Given the description of an element on the screen output the (x, y) to click on. 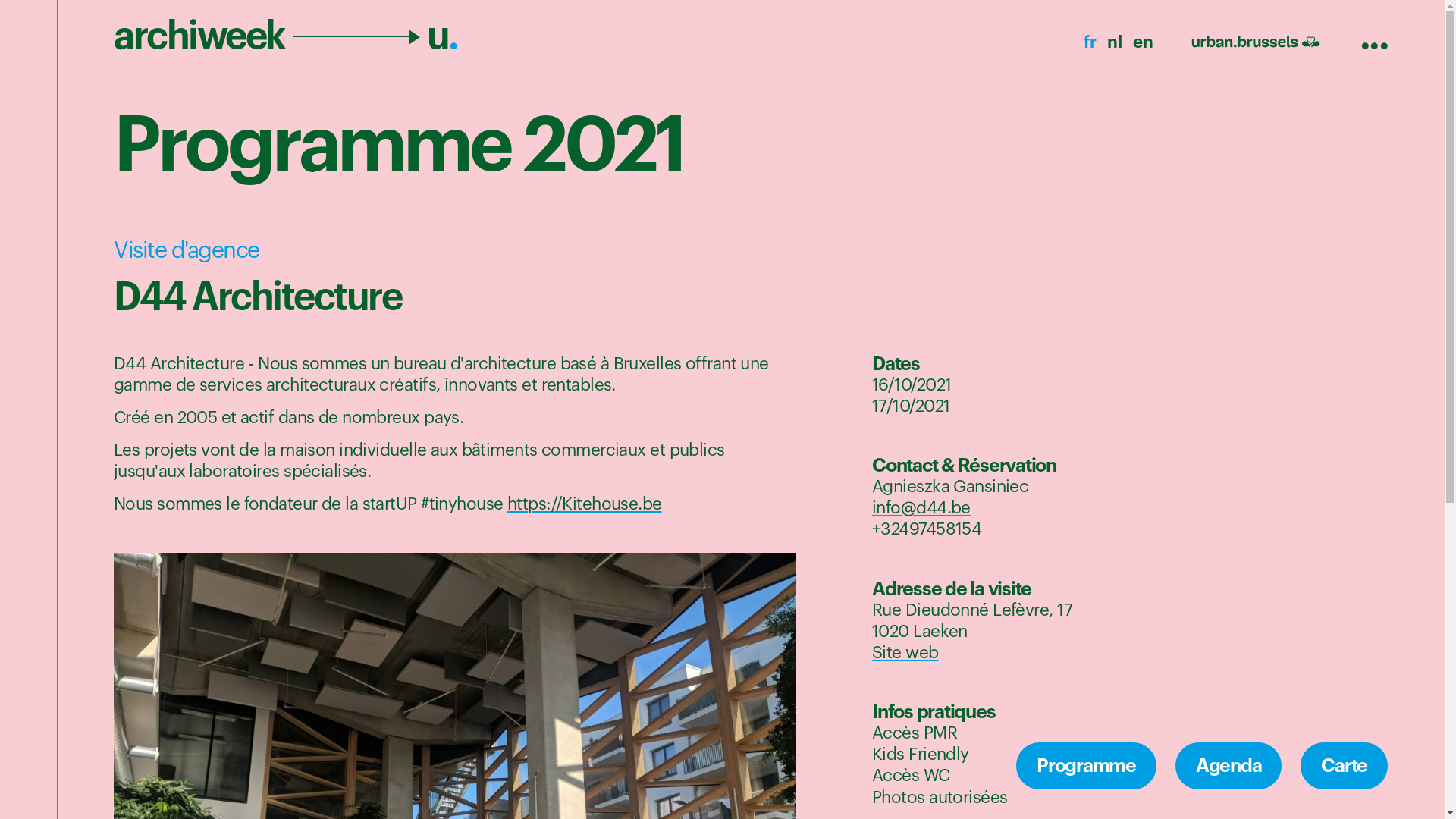
https://Kitehouse.be Element type: text (584, 503)
Agenda Element type: text (1228, 766)
nl Element type: text (1114, 41)
fr Element type: text (1089, 41)
en Element type: text (1142, 41)
info@d44.be Element type: text (921, 507)
archiweek  u. Element type: text (285, 36)
Site web Element type: text (905, 652)
Programme Element type: text (1086, 766)
